Given the description of an element on the screen output the (x, y) to click on. 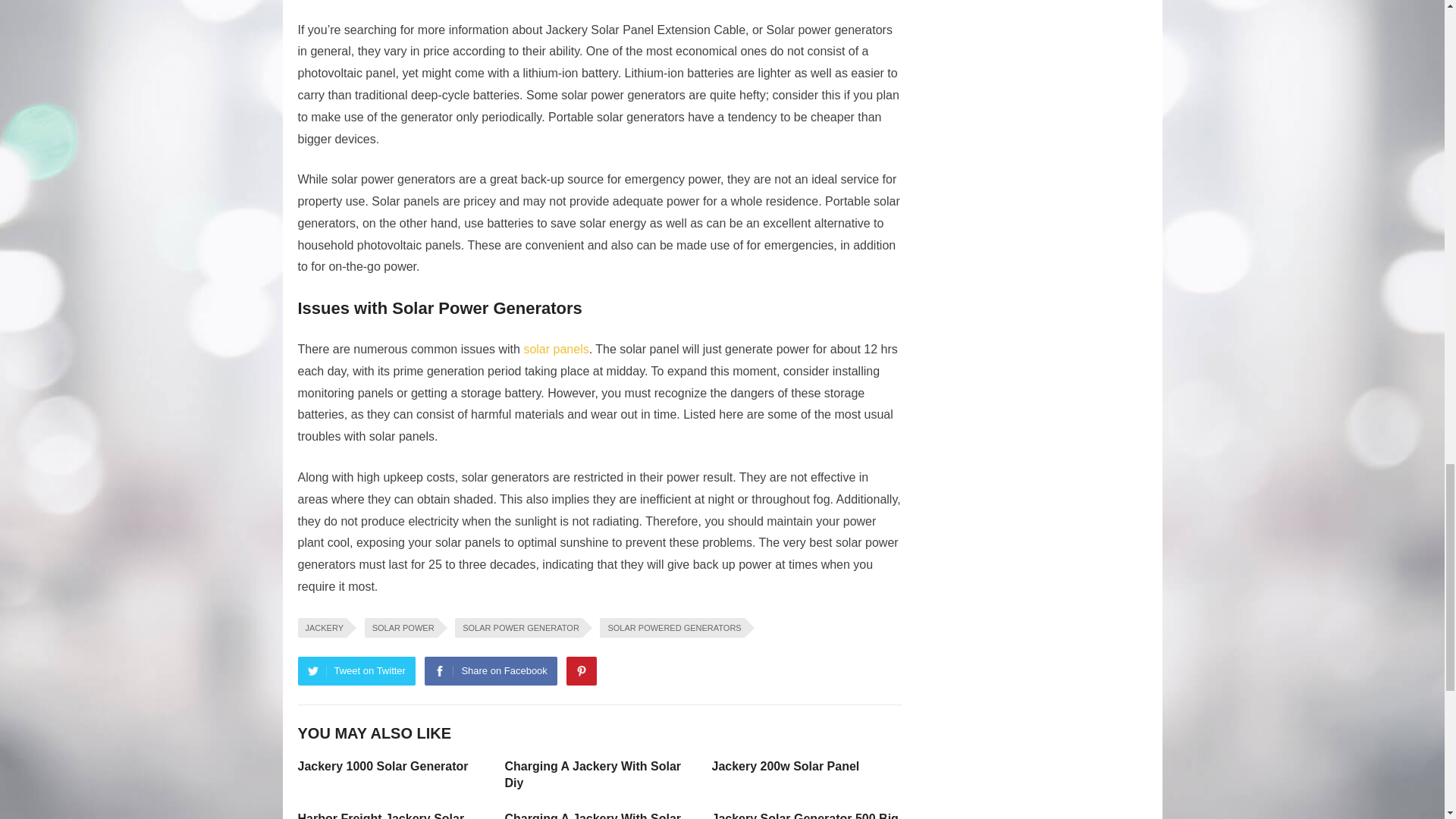
SOLAR POWERED GENERATORS (671, 628)
SOLAR POWER (401, 628)
JACKERY (321, 628)
SOLAR POWER GENERATOR (518, 628)
solar panels (555, 349)
